Given the description of an element on the screen output the (x, y) to click on. 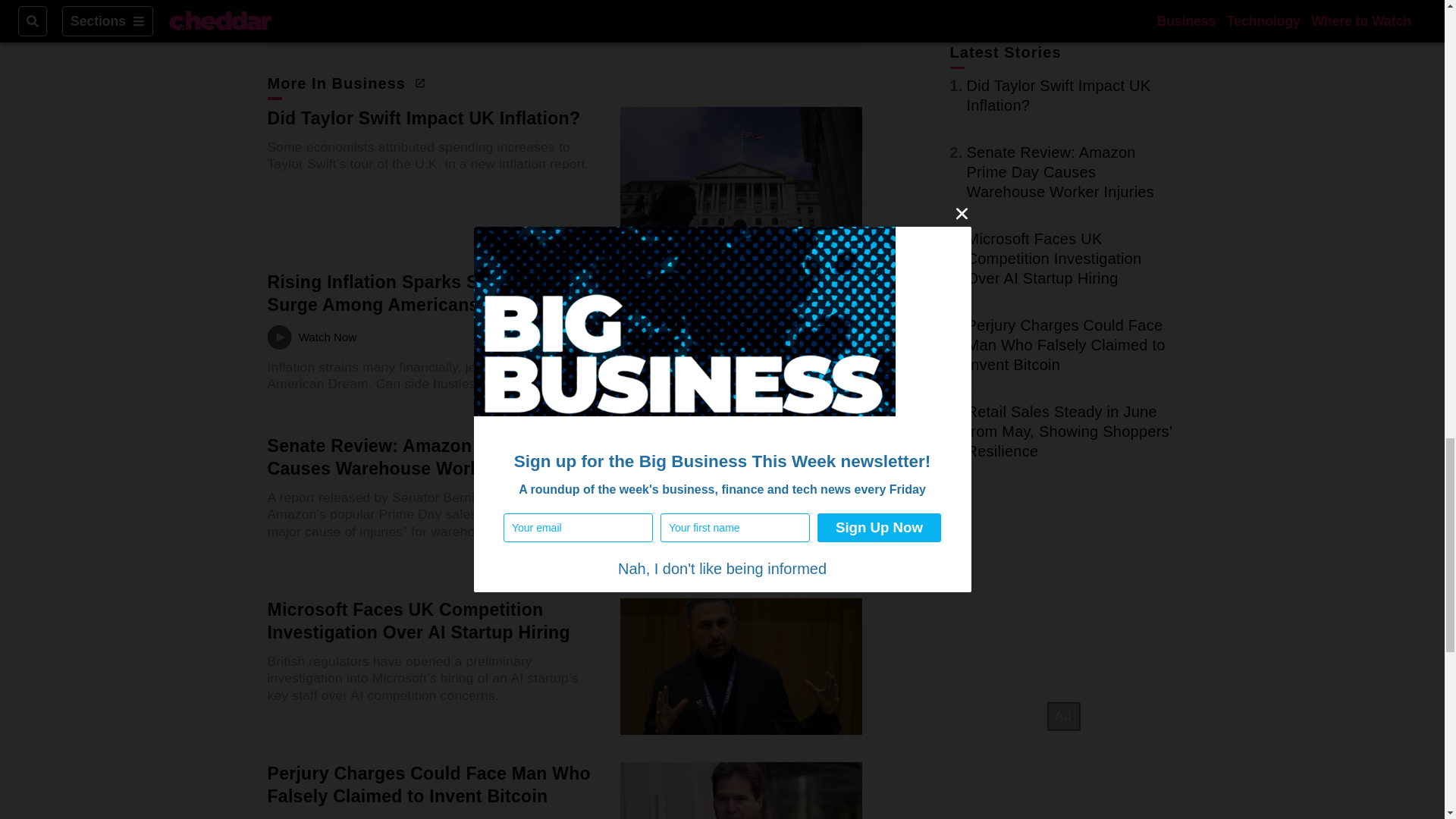
Rising Inflation Sparks Side Hustle Surge Among Americans (414, 292)
Did Taylor Swift Impact UK Inflation? (422, 117)
More In Business (344, 83)
